Given the description of an element on the screen output the (x, y) to click on. 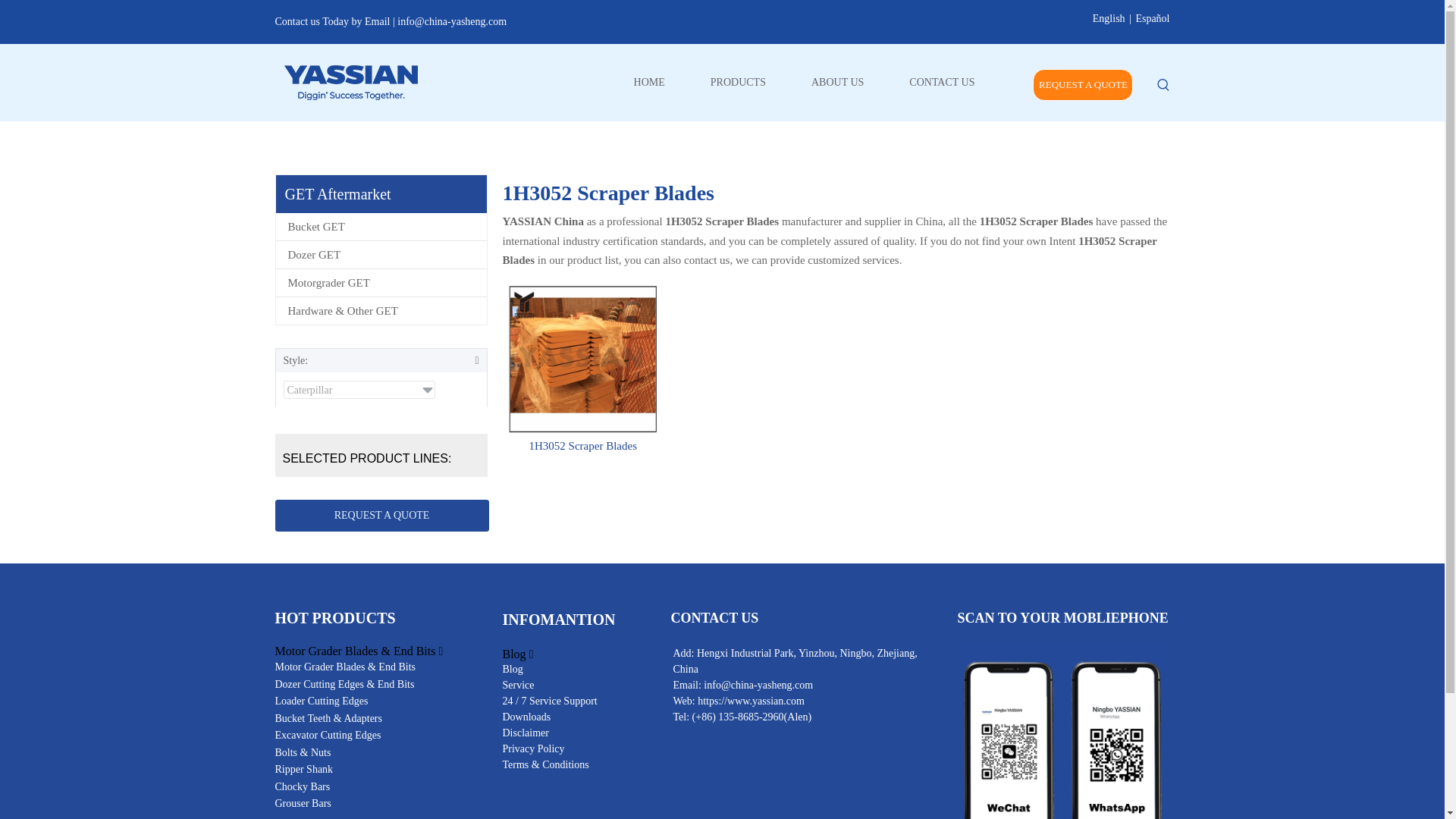
Dozer GET (381, 254)
CONTACT US (941, 82)
English (1109, 18)
logo (350, 82)
Motorgrader GET (381, 282)
Bucket GET (381, 226)
HOME (649, 82)
PRODUCTS (738, 82)
ABOUT US (837, 82)
